Given the description of an element on the screen output the (x, y) to click on. 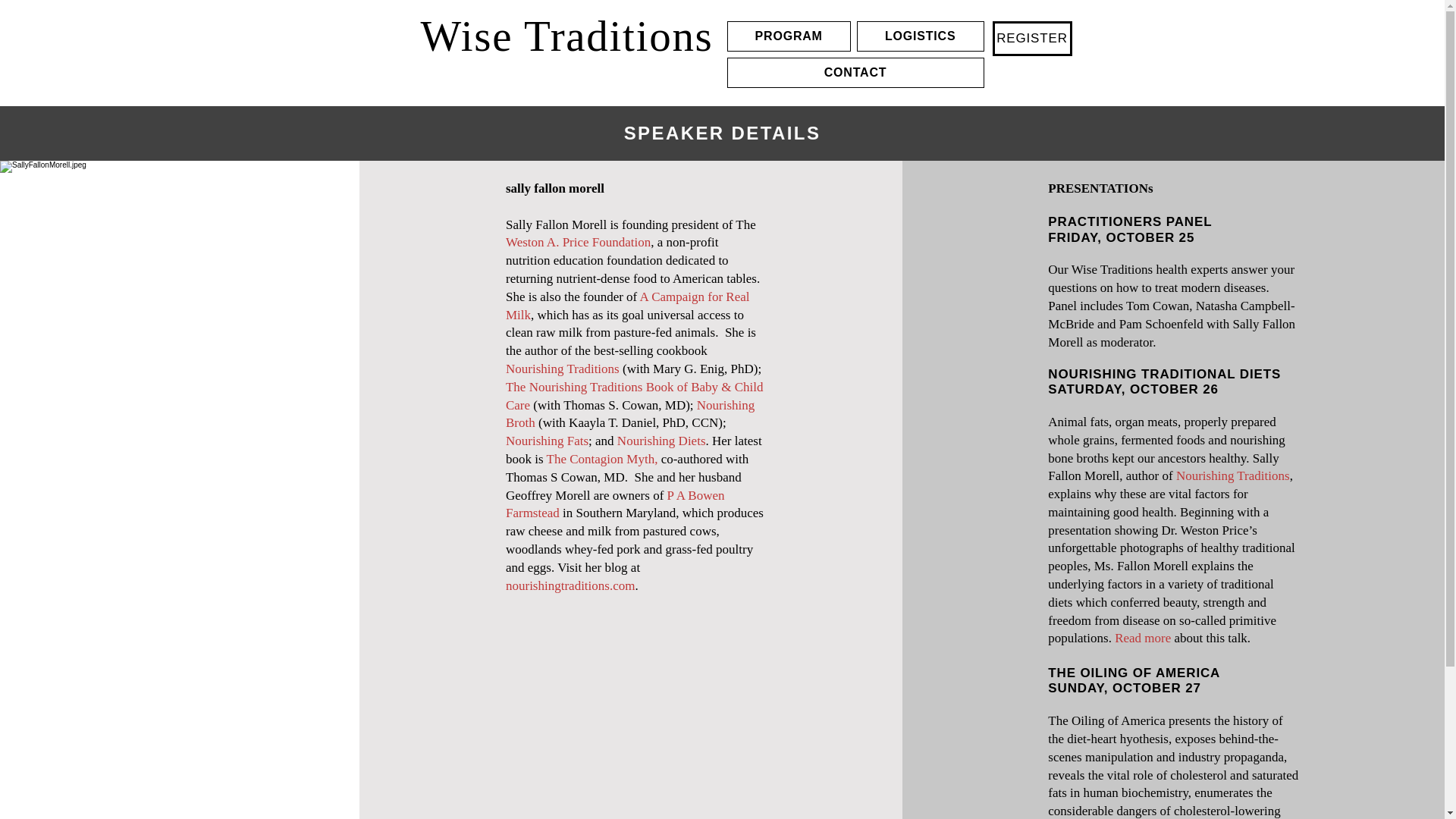
Nourishing Fats (546, 440)
CONTACT (855, 72)
Nourishing Broth (629, 414)
The Contagion Myth (601, 459)
Wise Traditions (566, 35)
A Campaign for Real Milk (627, 305)
Nourishing Traditions (562, 368)
Weston A. Price Foundation (577, 242)
Nourishing Traditions (1233, 475)
Nourishing Diets (661, 440)
